Given the description of an element on the screen output the (x, y) to click on. 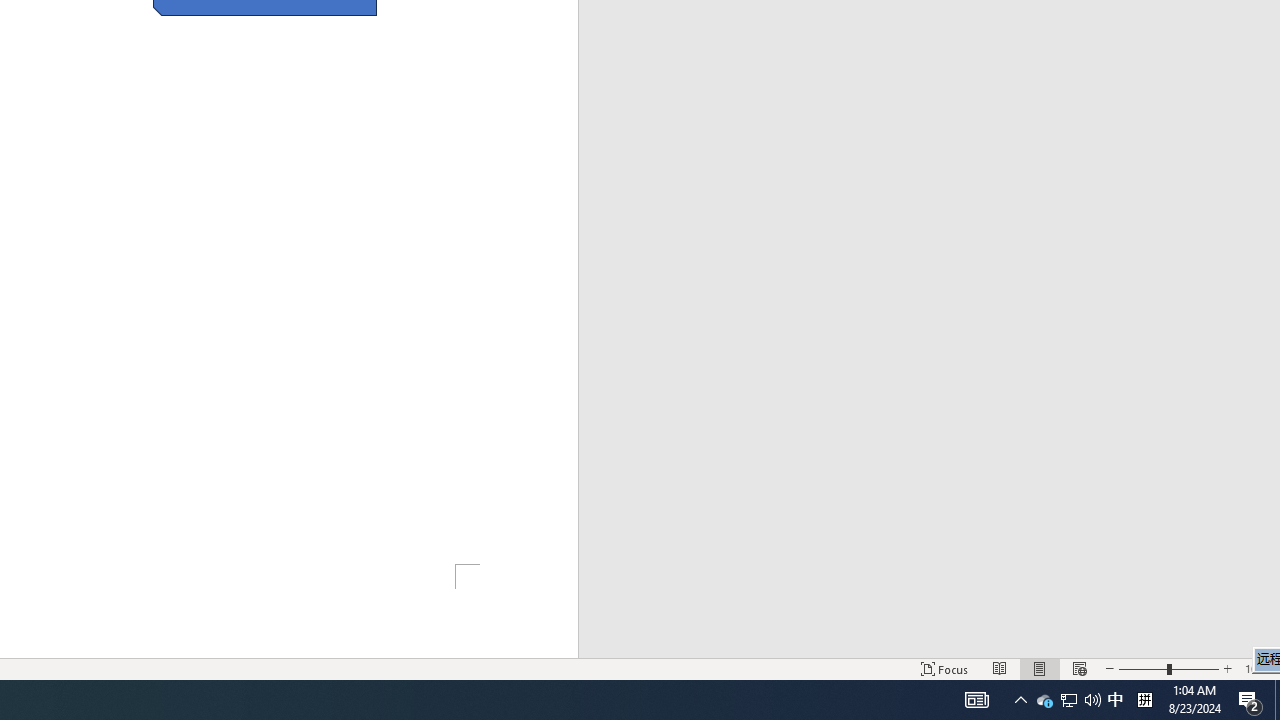
Zoom 104% (1258, 668)
